Given the description of an element on the screen output the (x, y) to click on. 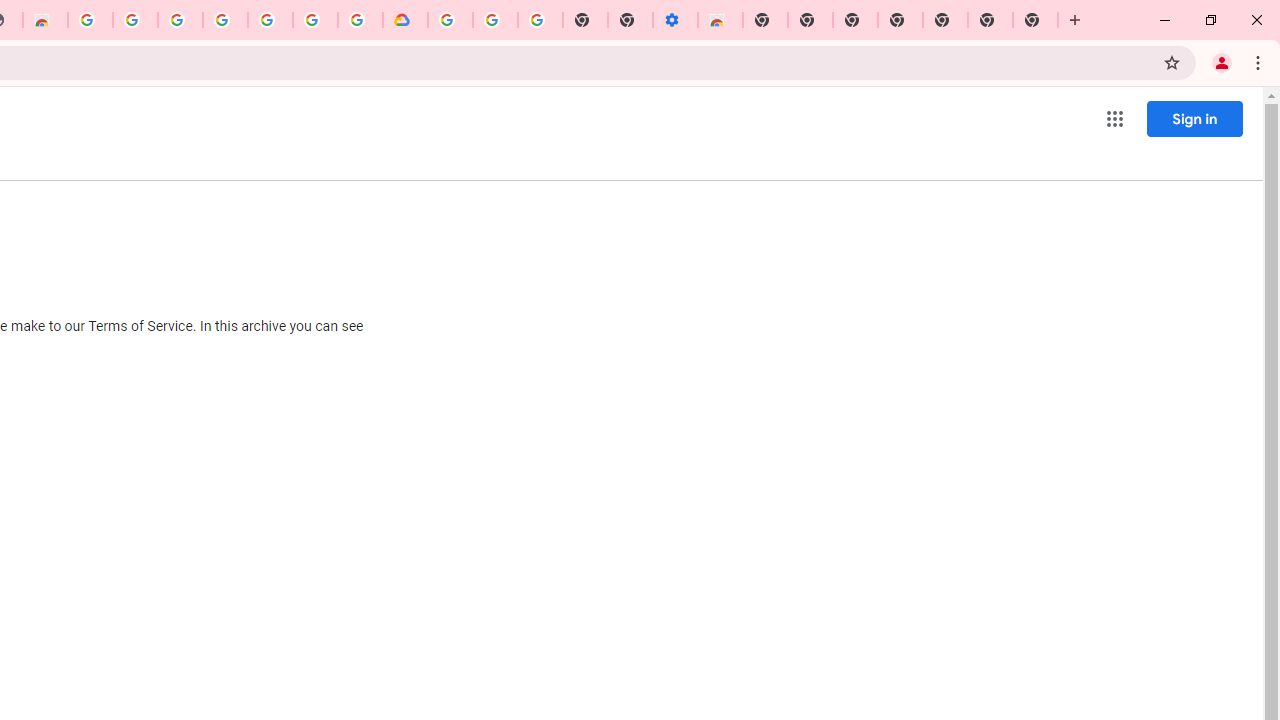
Sign in - Google Accounts (315, 20)
Sign in - Google Accounts (450, 20)
Sign in - Google Accounts (180, 20)
New Tab (944, 20)
Settings - Accessibility (674, 20)
Chrome Web Store - Accessibility extensions (720, 20)
